Given the description of an element on the screen output the (x, y) to click on. 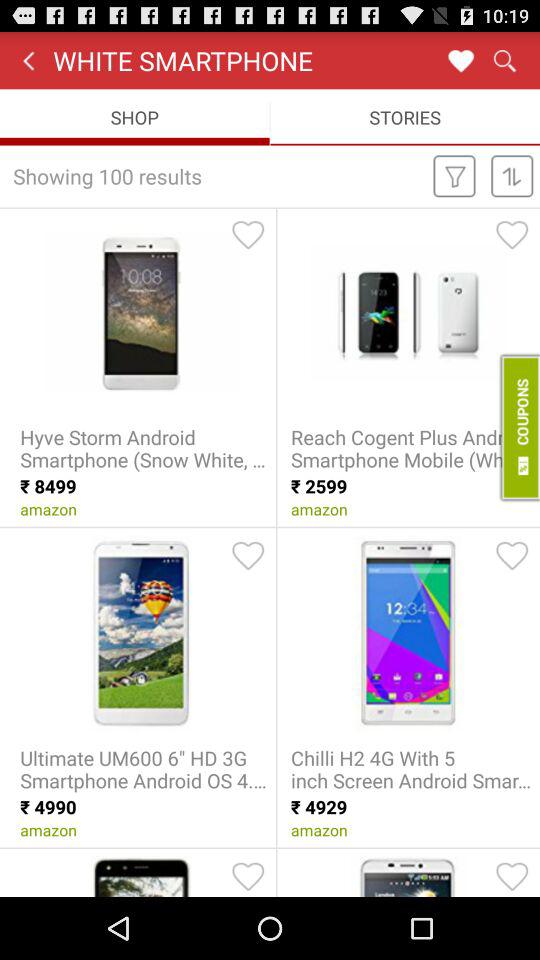
flip to the stories item (405, 116)
